Given the description of an element on the screen output the (x, y) to click on. 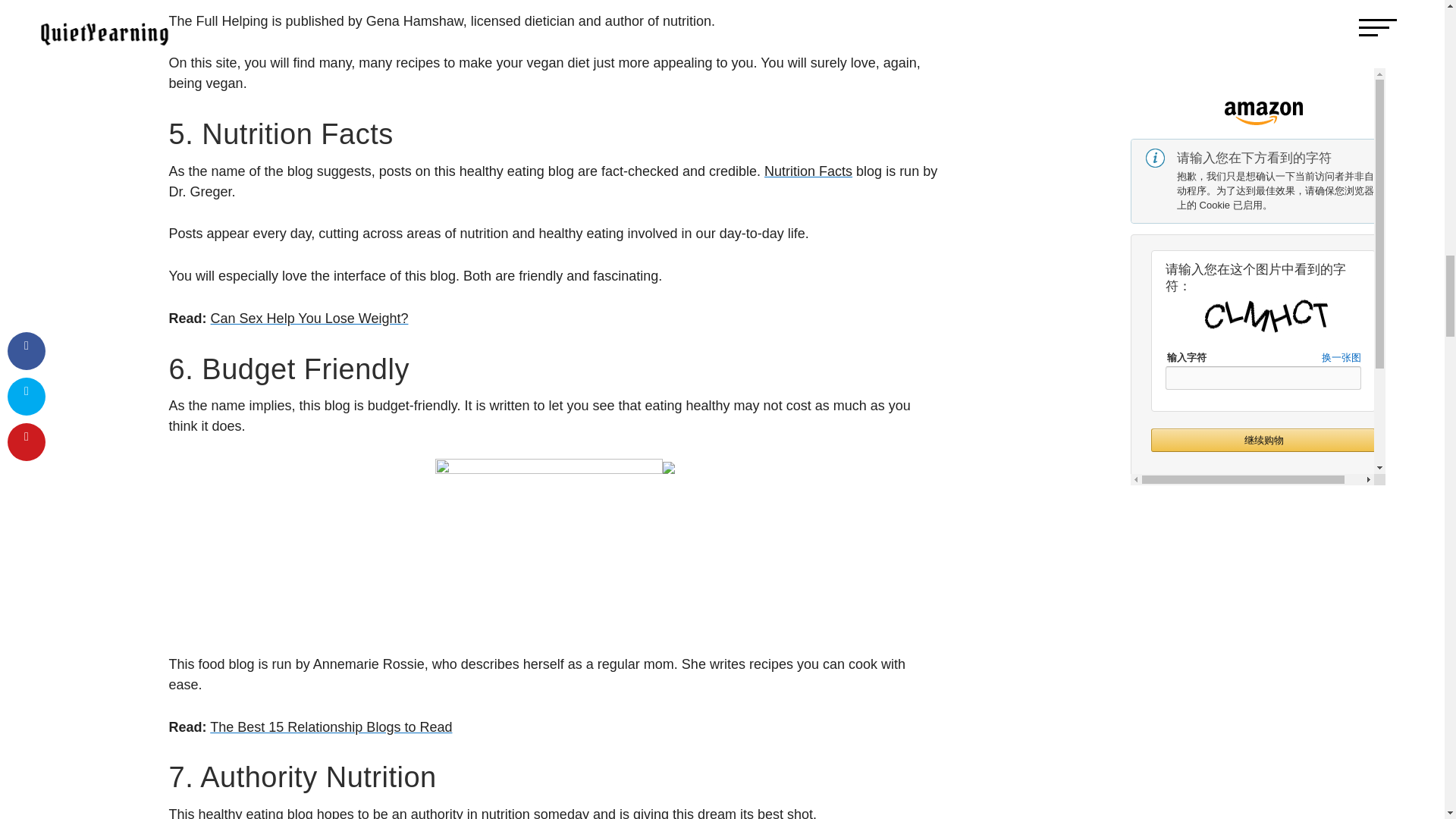
Can Sex Help You Lose Weight? (310, 318)
The Best 15 Relationship Blogs to Read (330, 726)
Nutrition Facts (807, 171)
